Given the description of an element on the screen output the (x, y) to click on. 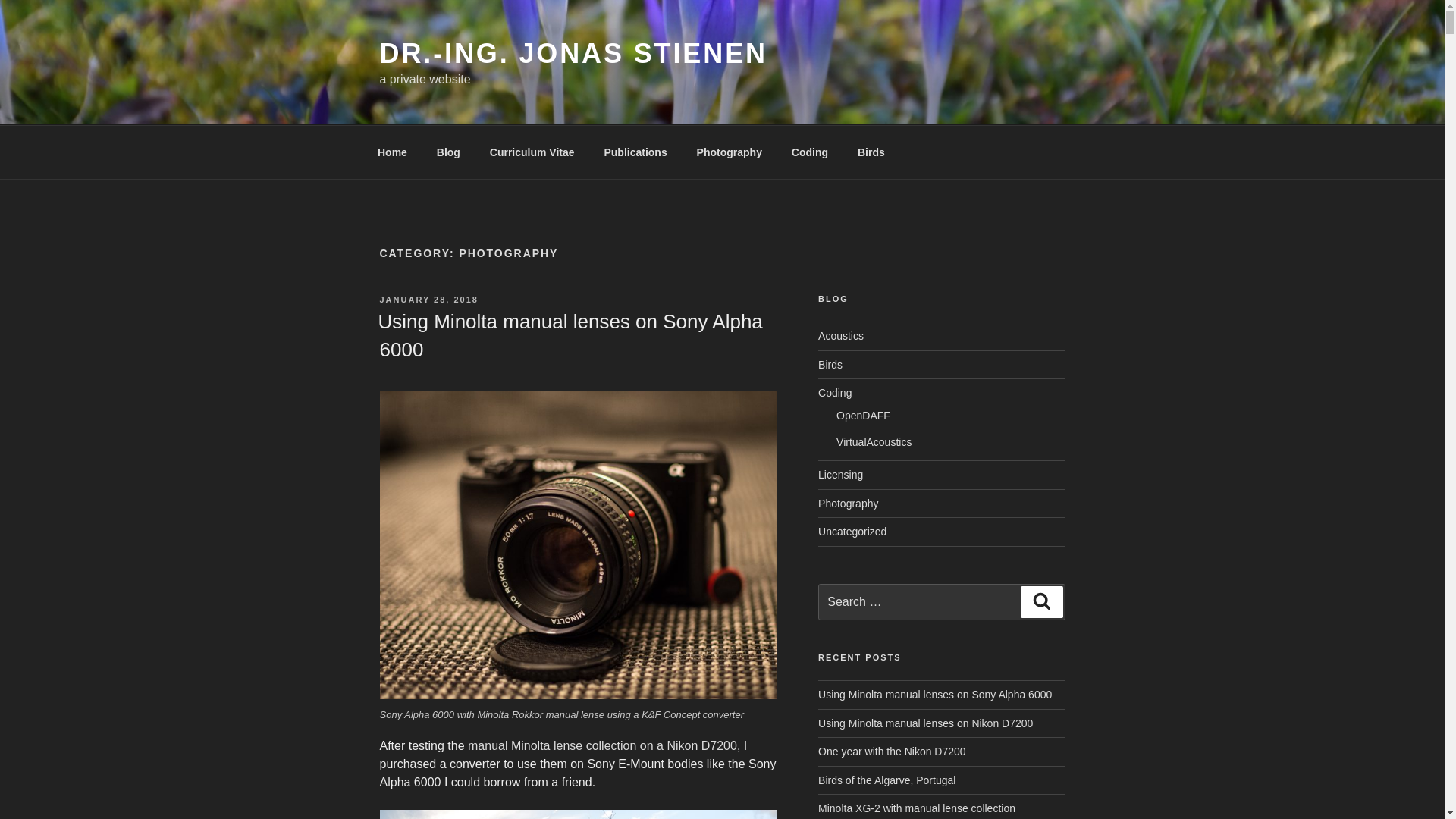
Coding (809, 151)
Curriculum Vitae (532, 151)
DR.-ING. JONAS STIENEN (572, 52)
Publications (635, 151)
Birds (830, 364)
Acoustics (840, 336)
Home (392, 151)
Using Minolta manual lenses on Sony Alpha 6000 (569, 335)
JANUARY 28, 2018 (427, 298)
manual Minolta lense collection on a Nikon D7200 (601, 745)
Blog (448, 151)
Coding (834, 392)
Photography (728, 151)
Birds (871, 151)
